Given the description of an element on the screen output the (x, y) to click on. 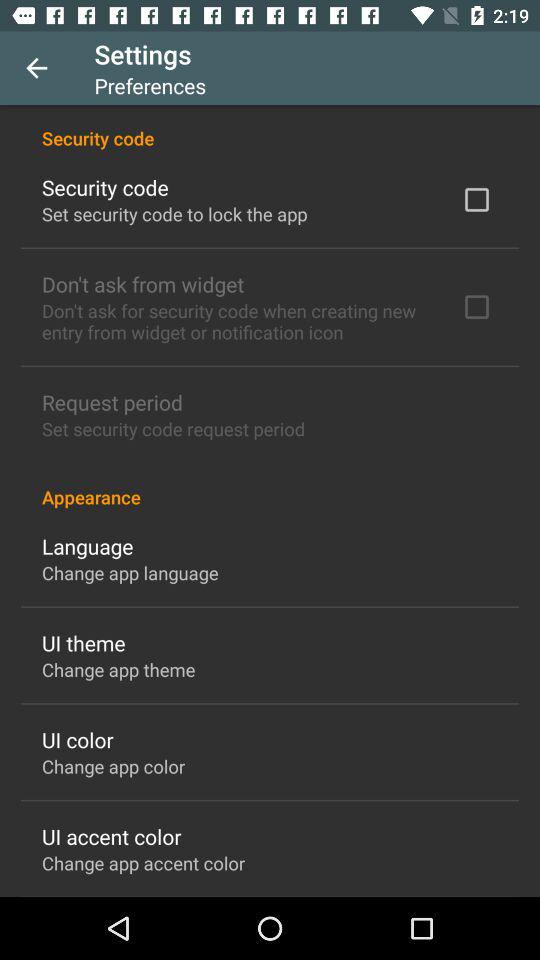
tap the ui theme item (83, 642)
